Given the description of an element on the screen output the (x, y) to click on. 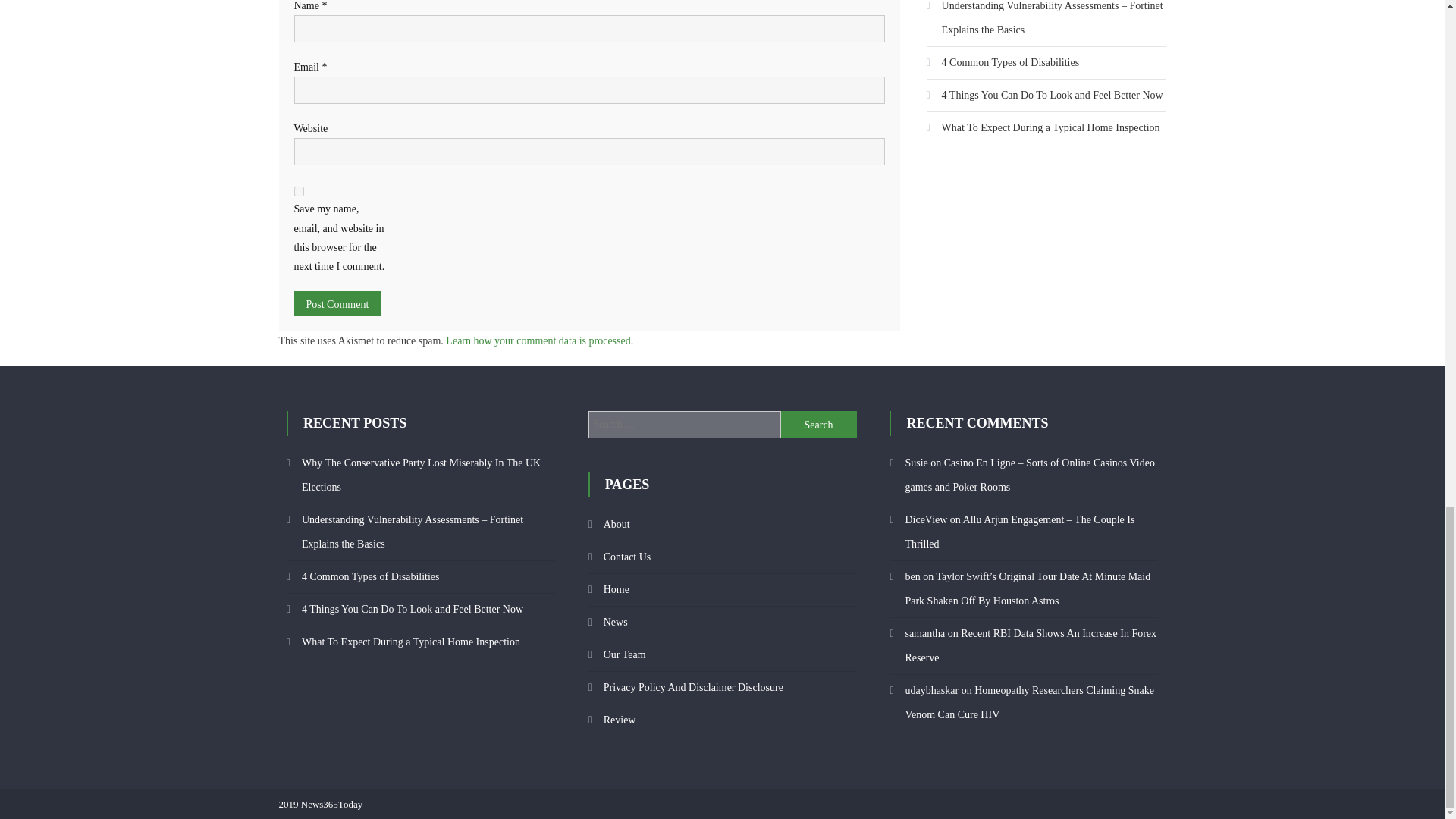
Post Comment (337, 303)
yes (299, 191)
Search (818, 424)
Post Comment (337, 303)
Search (818, 424)
